Given the description of an element on the screen output the (x, y) to click on. 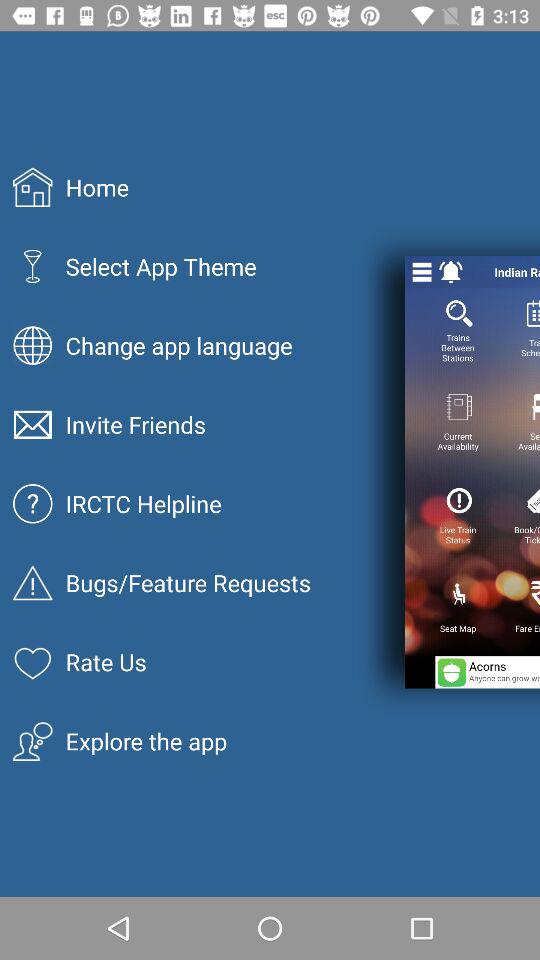
alarm/ notification (451, 271)
